Given the description of an element on the screen output the (x, y) to click on. 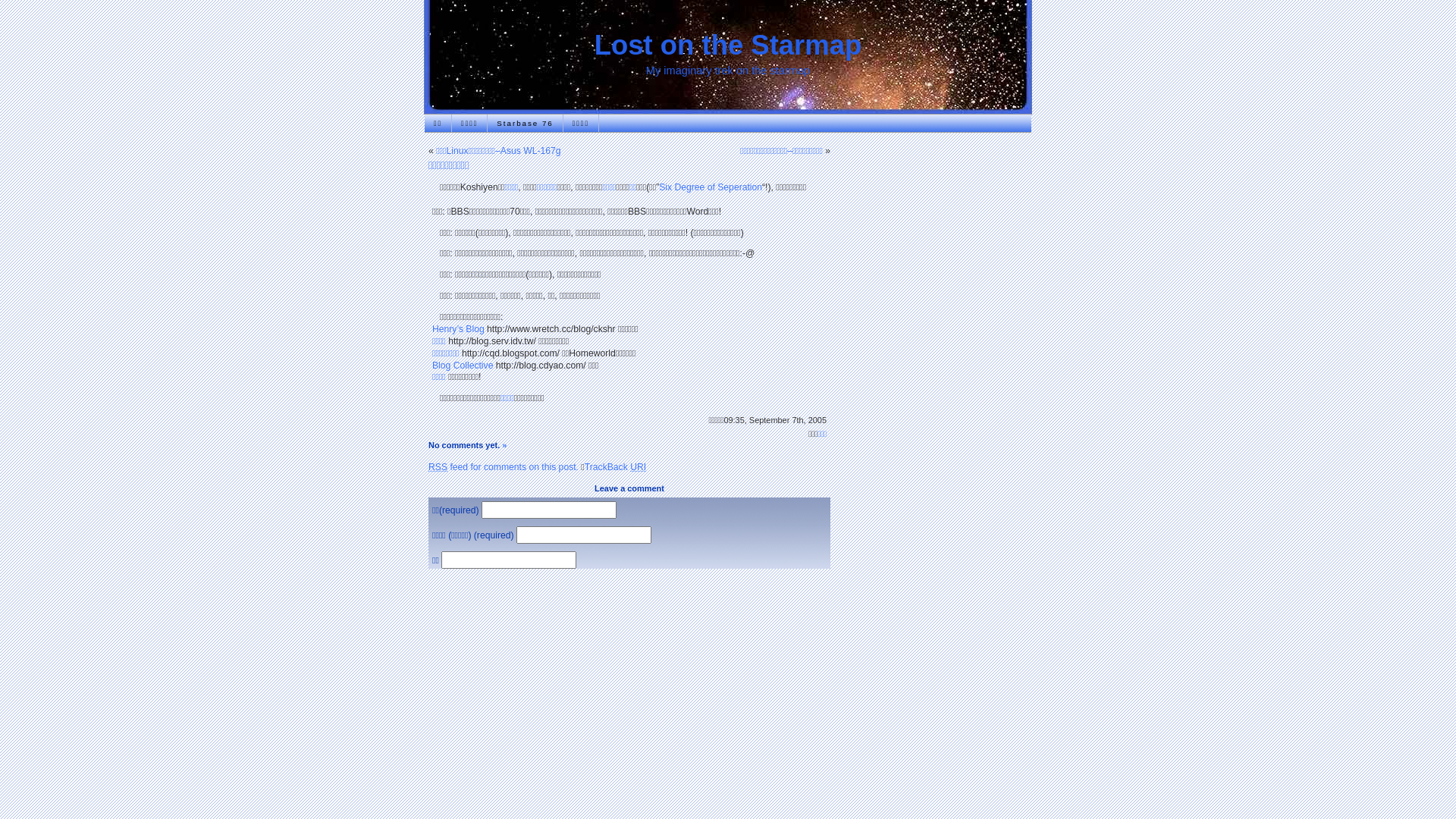
Six Degree of Seperation Element type: text (710, 187)
Blog Collective Element type: text (462, 365)
TrackBack URI Element type: text (615, 466)
RSS feed for comments on this post. Element type: text (503, 466)
Starbase 76 Element type: text (524, 122)
Lost on the Starmap Element type: text (728, 44)
